Given the description of an element on the screen output the (x, y) to click on. 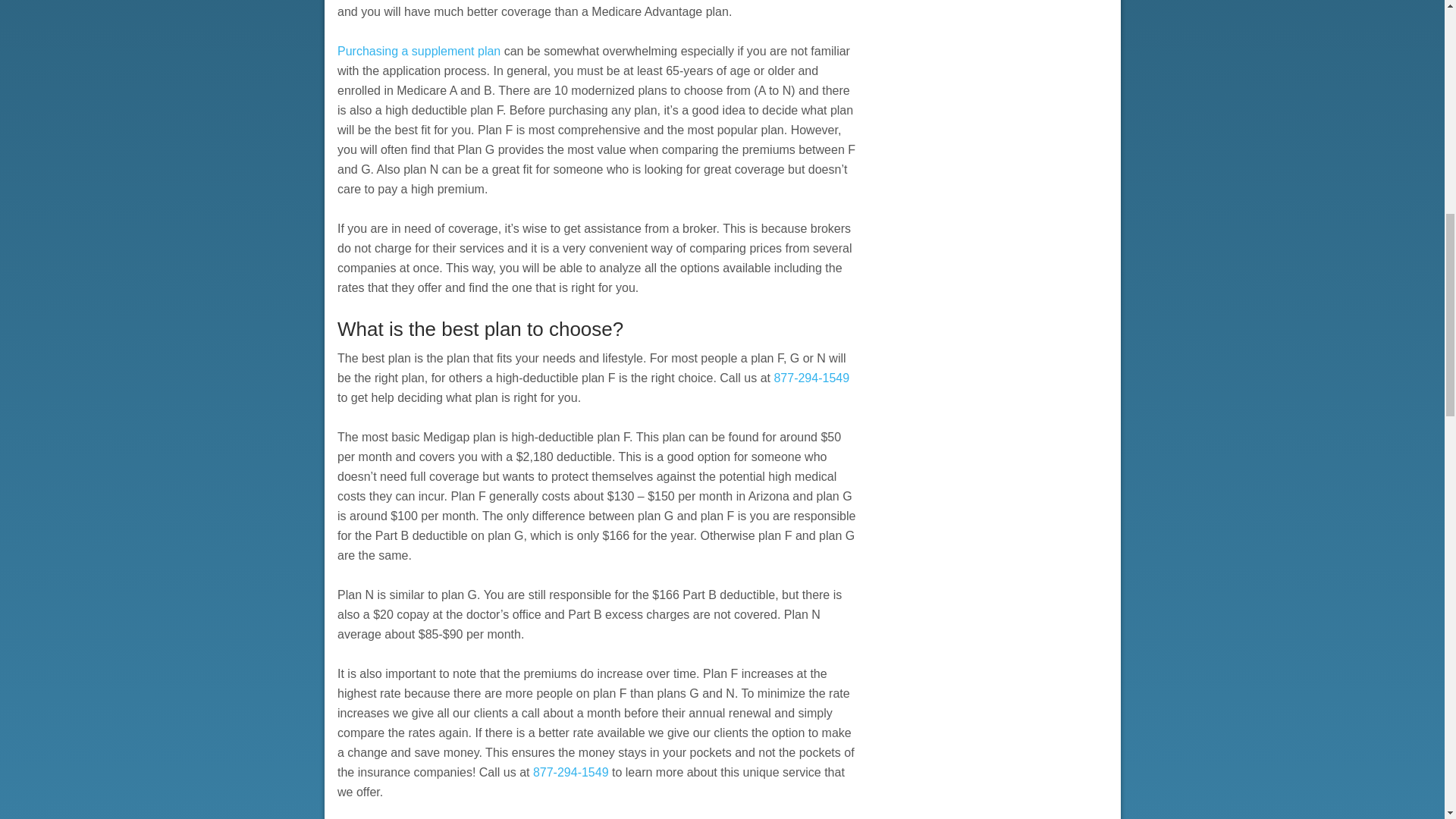
877-294-1549 (570, 771)
Purchasing a supplement plan (418, 51)
877-294-1549 (810, 377)
